Given the description of an element on the screen output the (x, y) to click on. 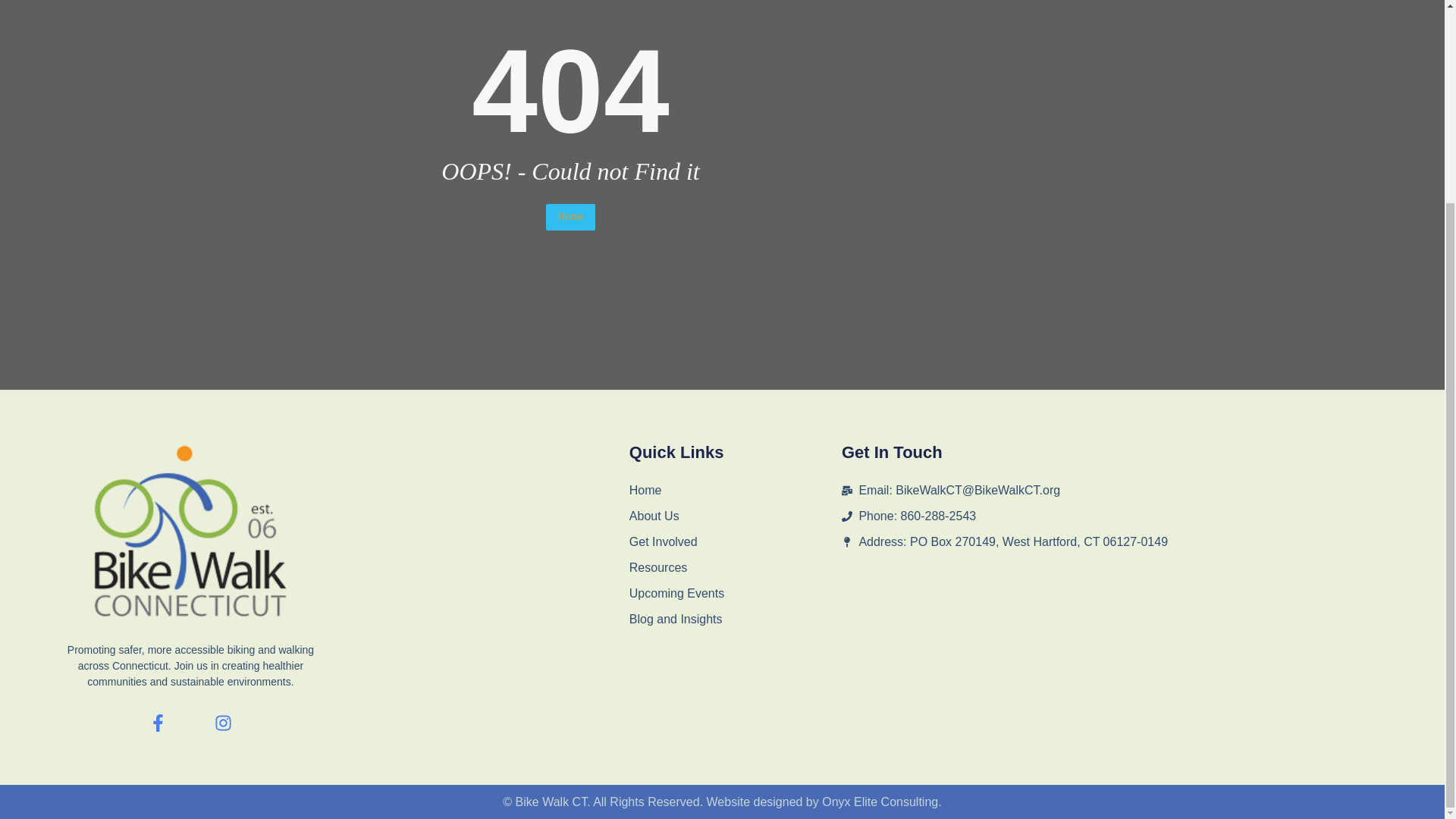
Home (734, 490)
About Us (734, 515)
Upcoming Events (734, 593)
Phone: 860-288-2543 (1102, 515)
Home (570, 216)
Get Involved (734, 542)
Resources (734, 567)
Blog and Insights (734, 619)
